Given the description of an element on the screen output the (x, y) to click on. 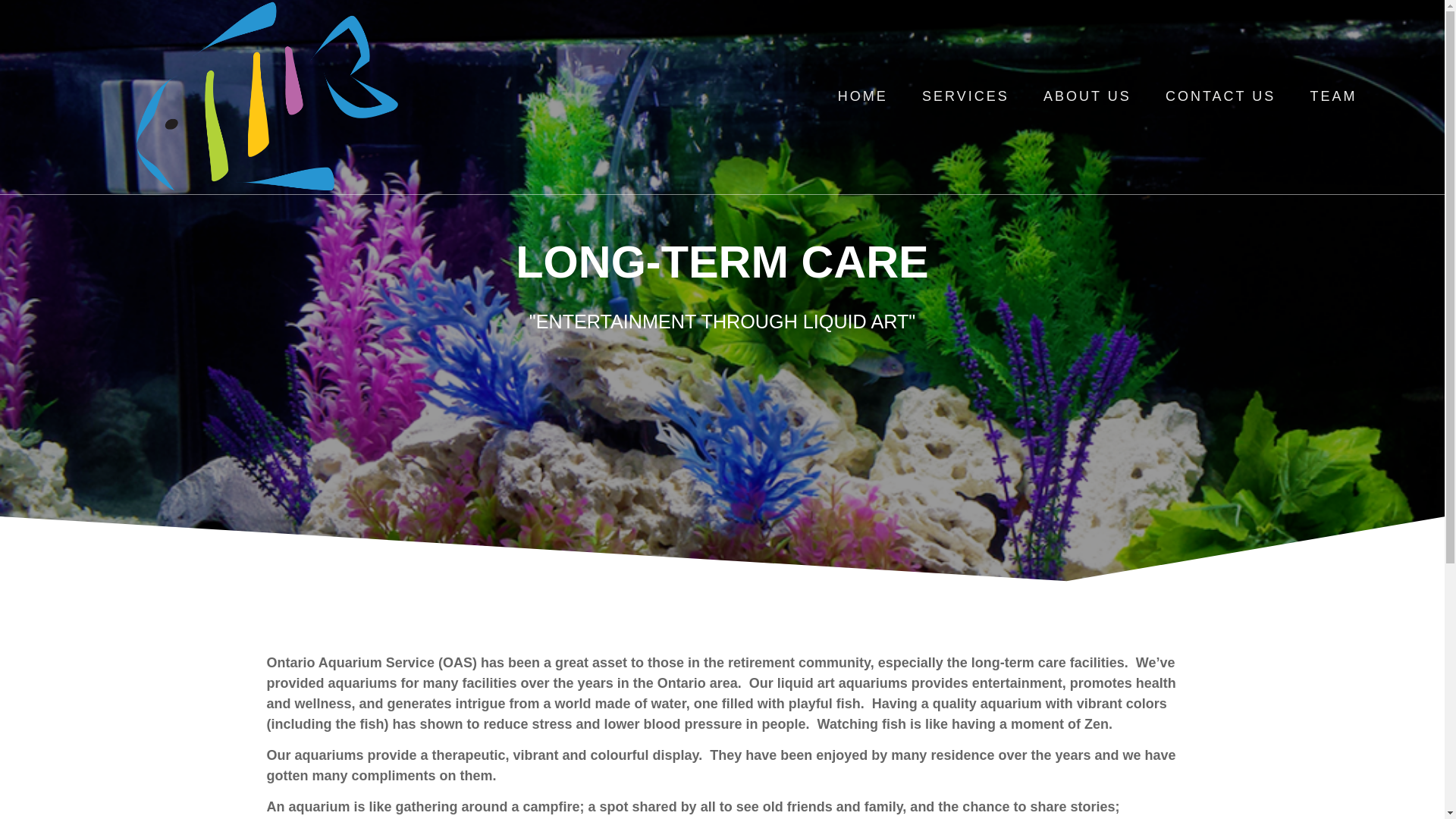
SERVICES (965, 96)
CONTACT US (1220, 96)
ABOUT US (1087, 96)
